Given the description of an element on the screen output the (x, y) to click on. 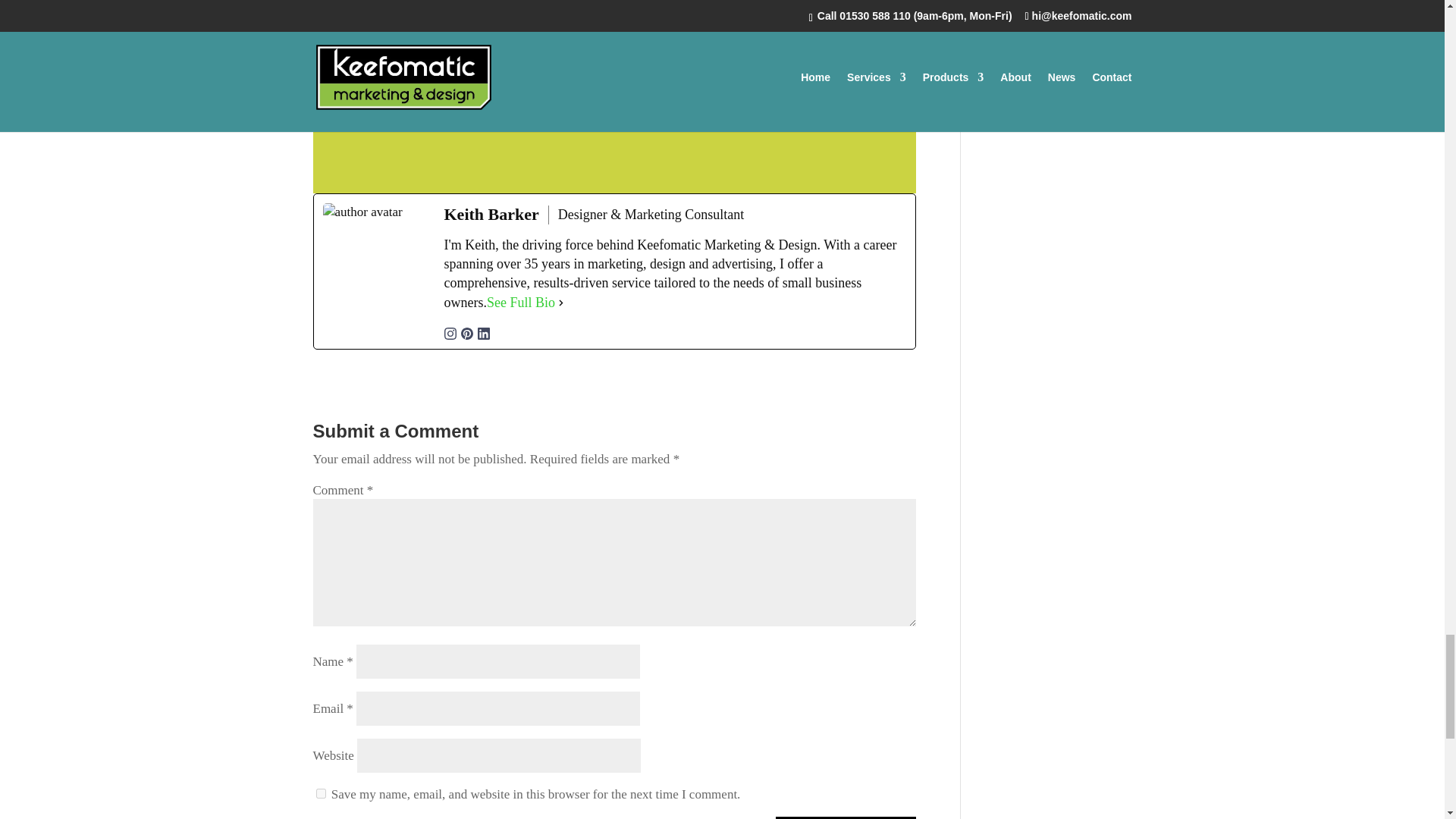
Submit Comment (845, 817)
SEND (821, 117)
See Full Bio (520, 302)
yes (319, 793)
Submit Comment (845, 817)
